Given the description of an element on the screen output the (x, y) to click on. 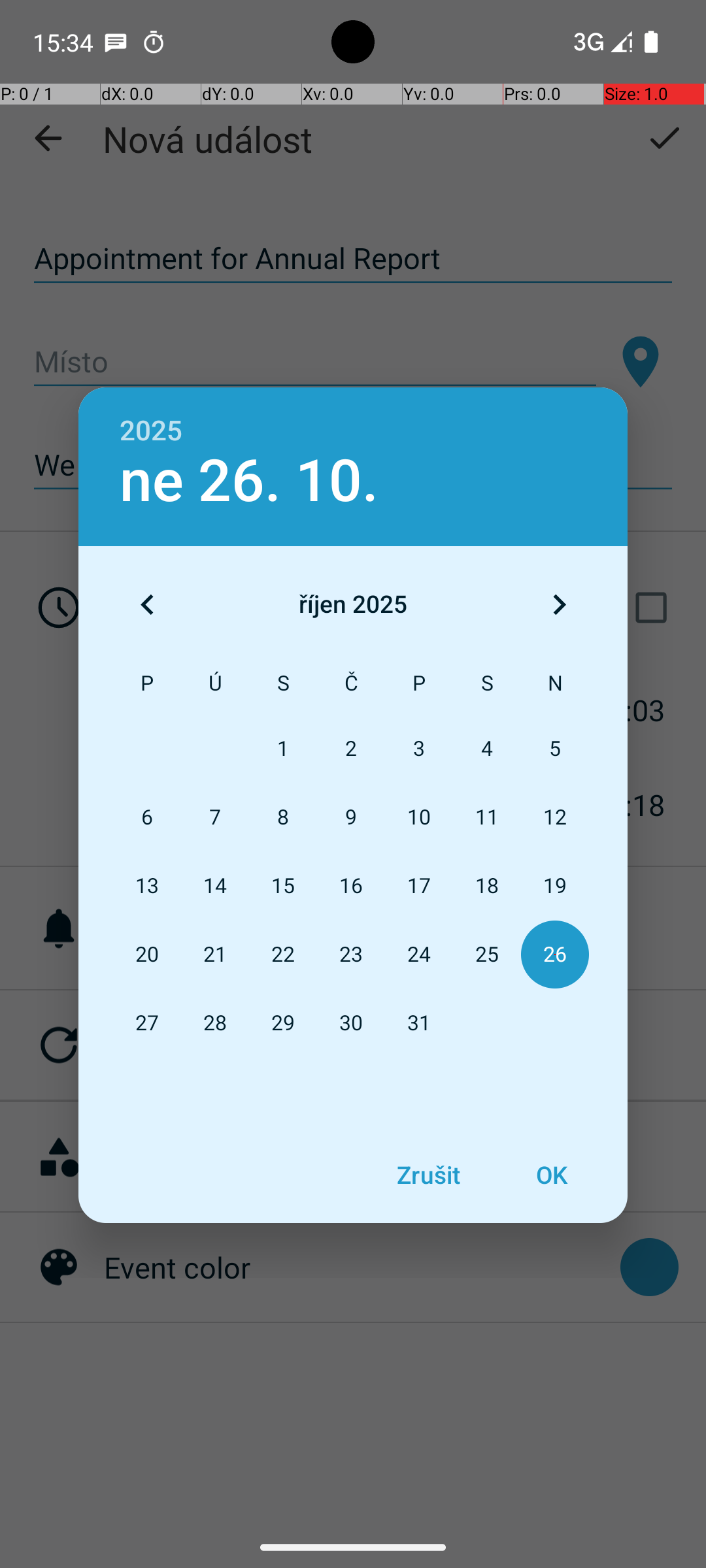
ne 26. 10. Element type: android.widget.TextView (248, 480)
Předchozí měsíc Element type: android.widget.ImageButton (146, 604)
Příští měsíc Element type: android.widget.ImageButton (558, 604)
